Given the description of an element on the screen output the (x, y) to click on. 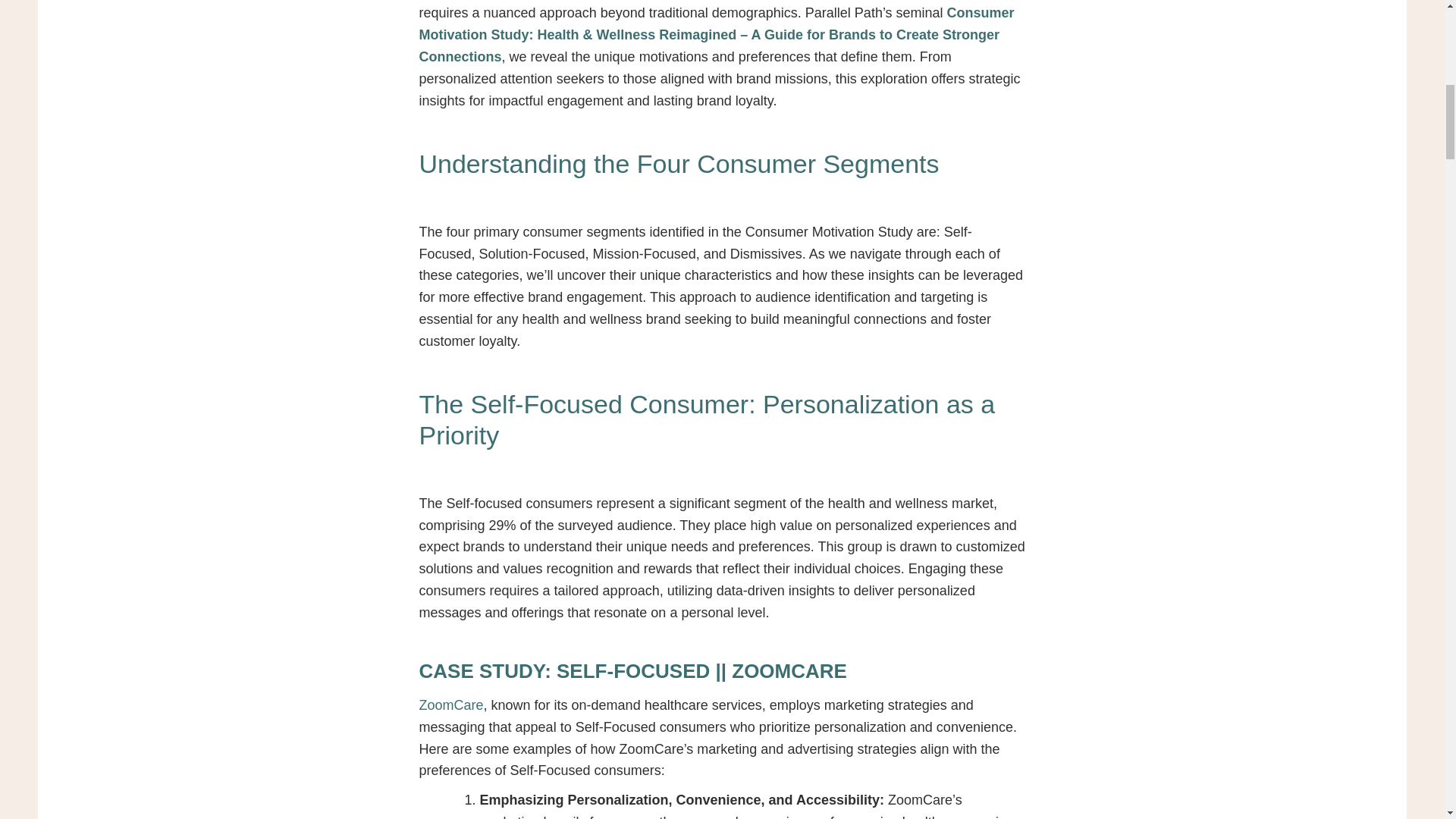
ZoomCare (451, 704)
